Given the description of an element on the screen output the (x, y) to click on. 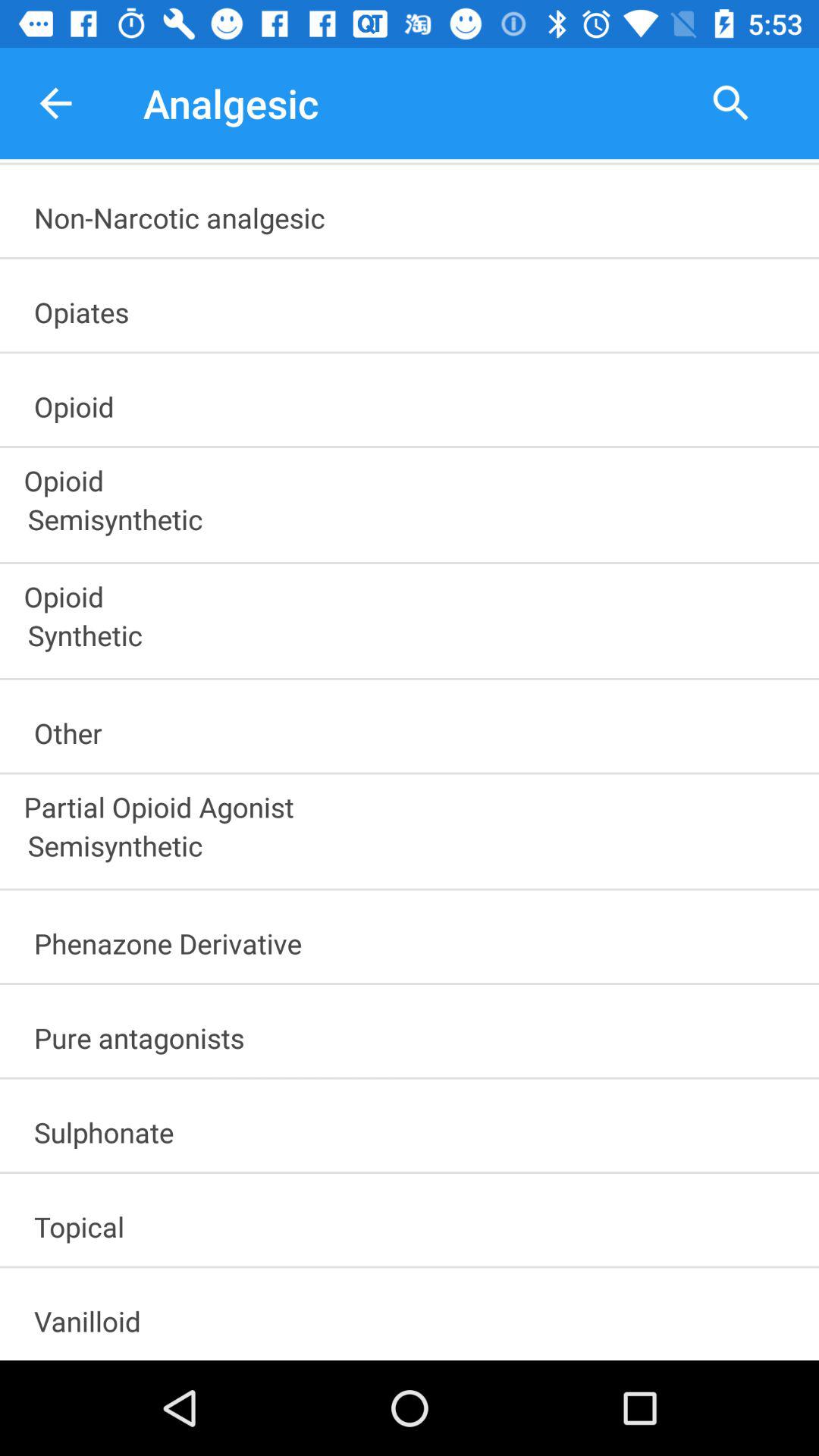
click the item below non-narcotic analgesic icon (416, 307)
